Given the description of an element on the screen output the (x, y) to click on. 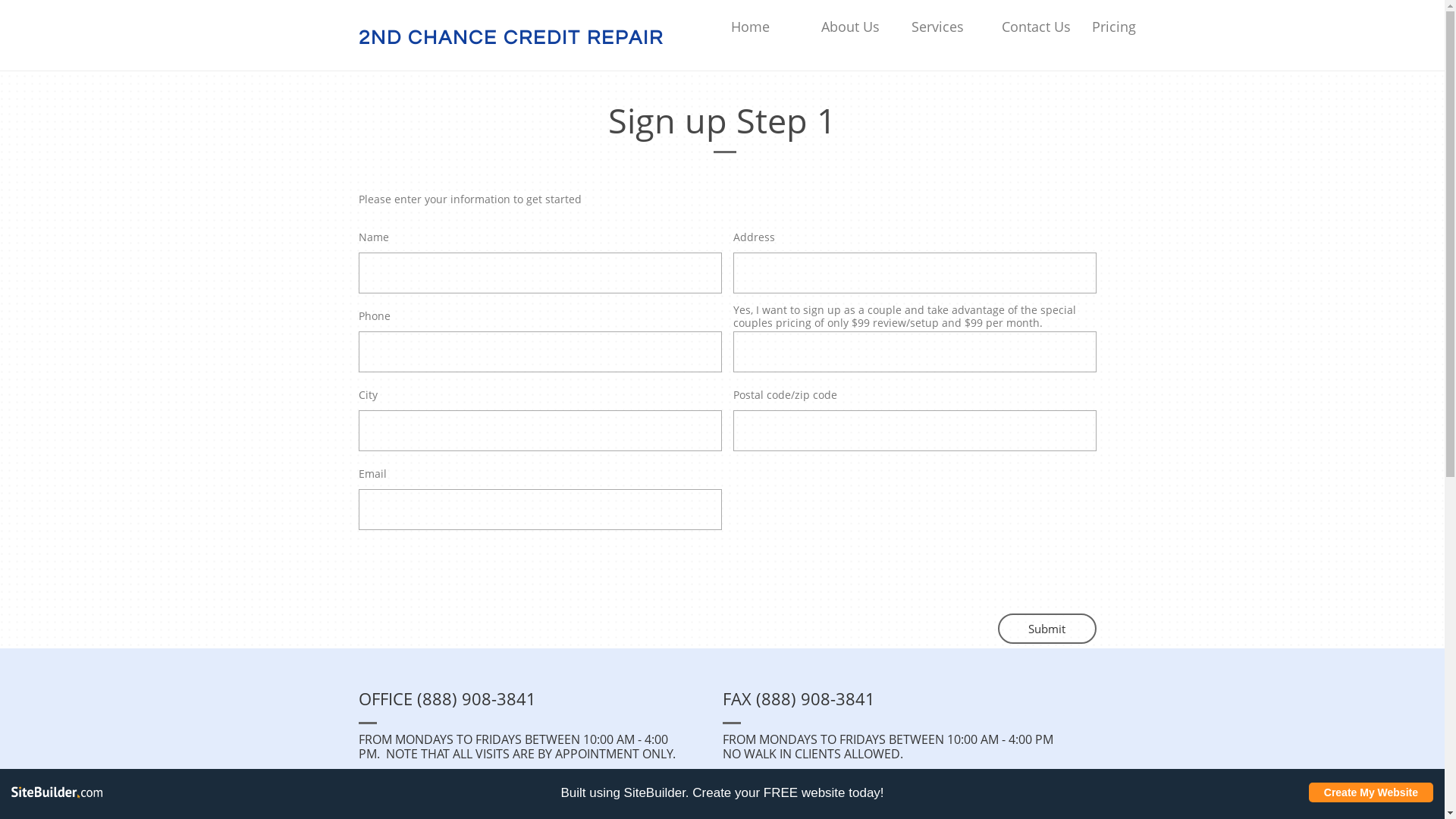
Services Element type: text (952, 26)
About Us Element type: text (861, 26)
Home Element type: text (772, 26)
Contact Us Element type: text (1042, 26)
Pricing Element type: text (1133, 26)
